Given the description of an element on the screen output the (x, y) to click on. 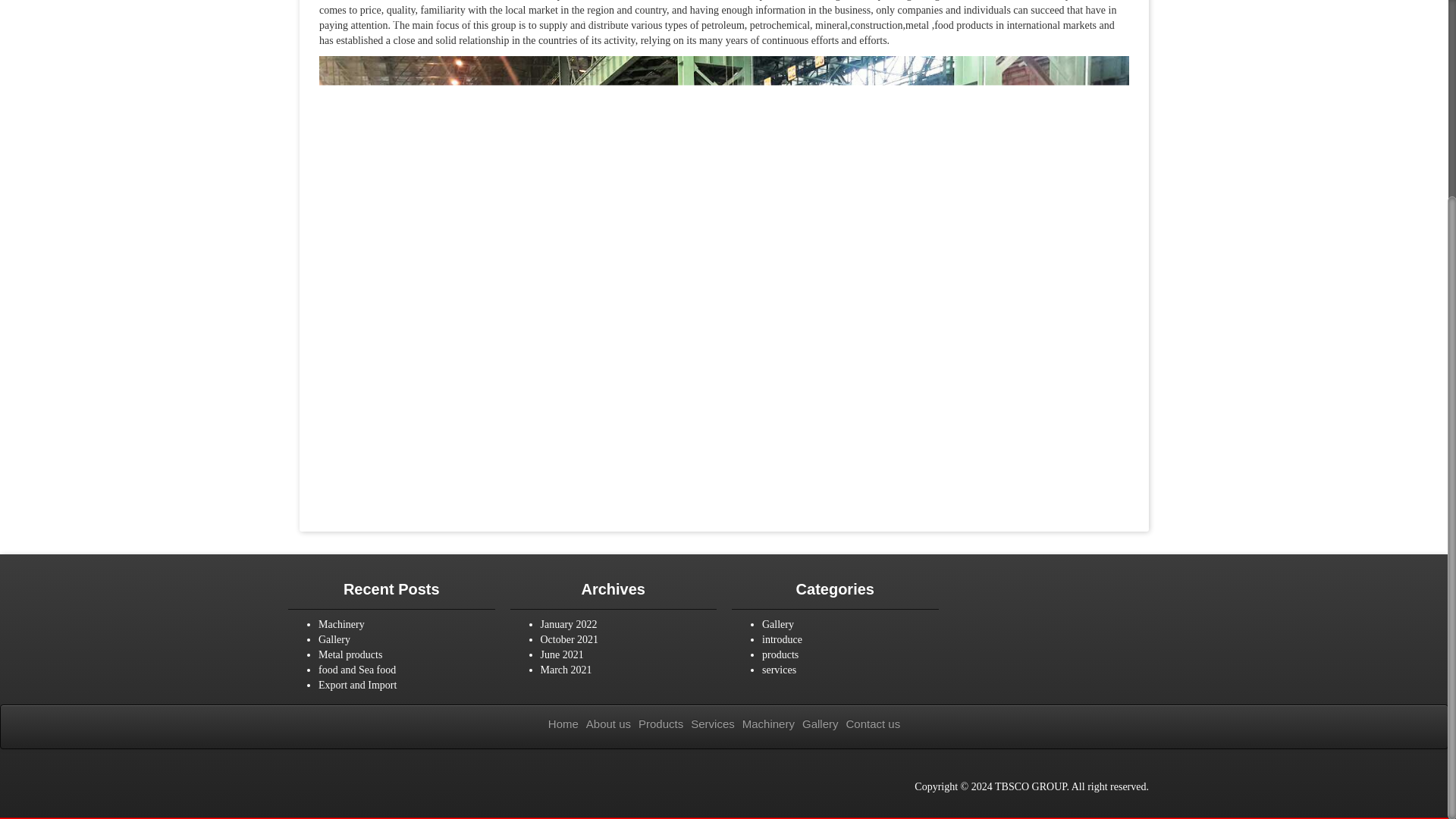
Gallery (777, 624)
Products (660, 723)
Gallery (334, 639)
June 2021 (561, 654)
March 2021 (565, 669)
products (779, 654)
food and Sea food (357, 669)
Export and Import (357, 685)
Metal products (349, 654)
Services (712, 723)
January 2022 (568, 624)
Machinery (341, 624)
About us (608, 723)
October 2021 (569, 639)
introduce (781, 639)
